Given the description of an element on the screen output the (x, y) to click on. 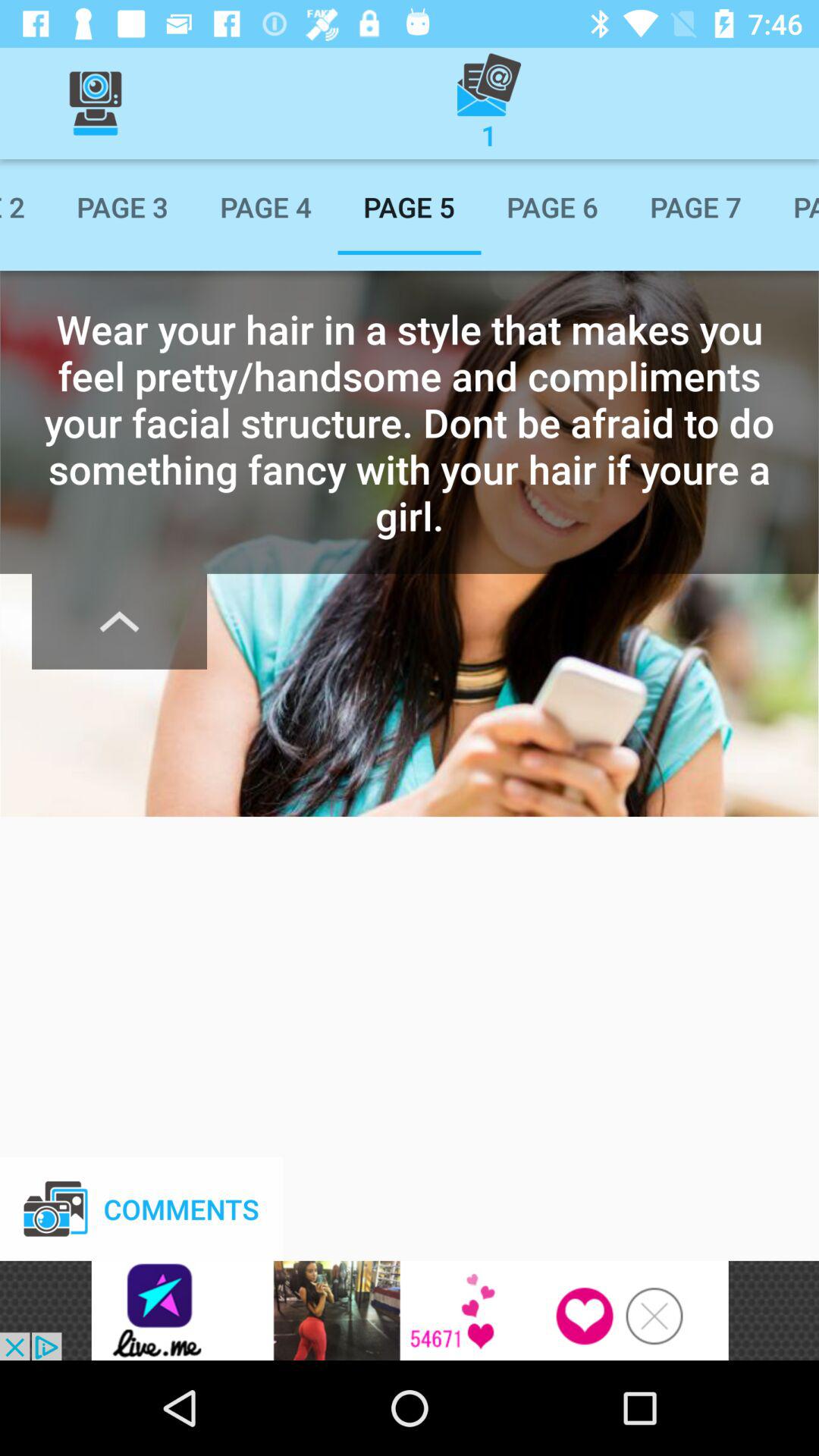
advertisement (409, 1310)
